Given the description of an element on the screen output the (x, y) to click on. 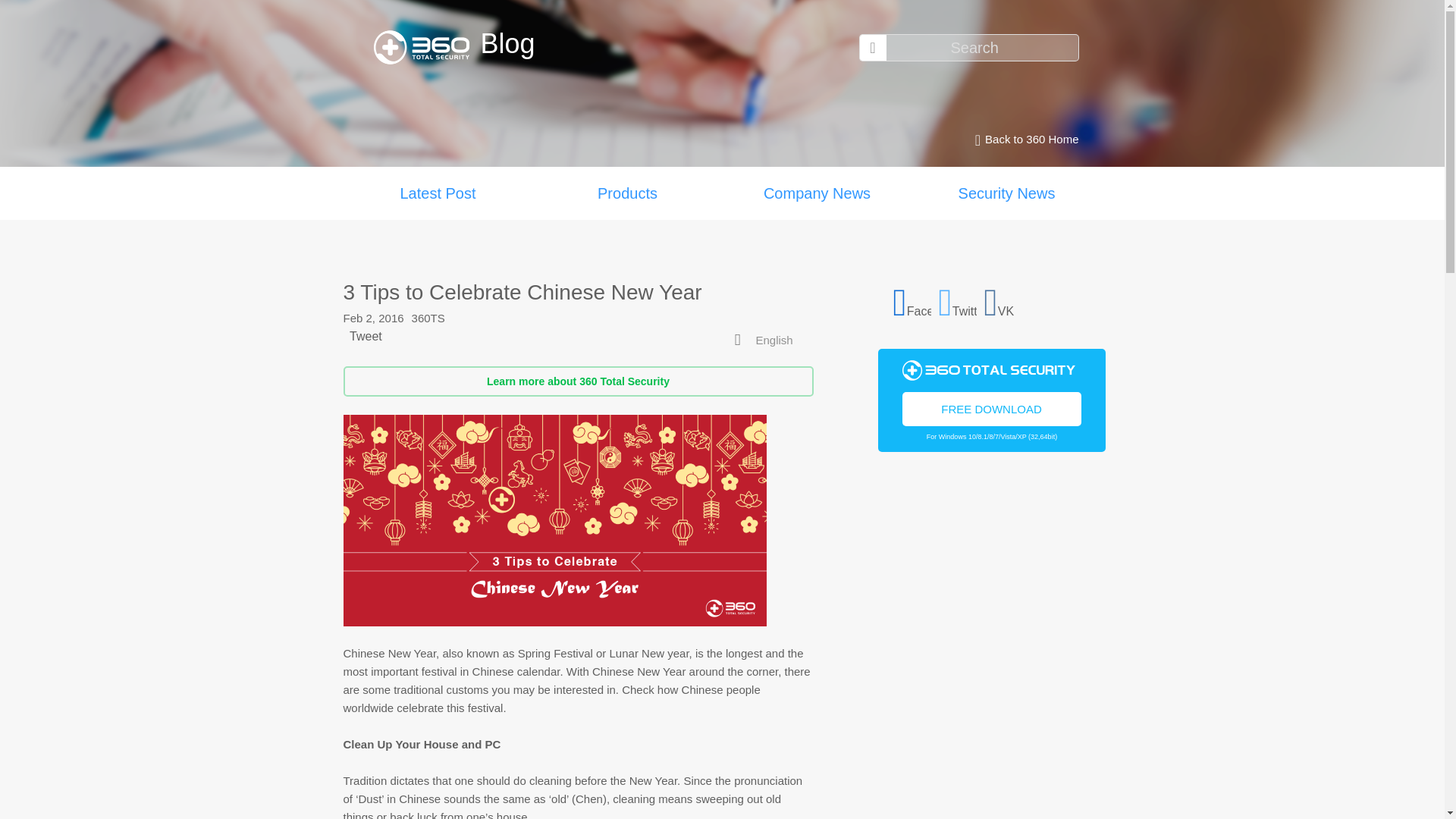
VK (1003, 299)
Back to 360 Home (1022, 140)
Learn more about 360 Total Security (577, 381)
Products (627, 193)
Security News (1005, 193)
Facebook (912, 299)
Learn more about 360 Total Security (577, 381)
Company News (816, 193)
Tweet (365, 336)
360 Total Security Blog Logo (426, 47)
Twitter (957, 299)
Advertisement (991, 650)
Free Download (991, 408)
Latest Post (437, 193)
FREE DOWNLOAD (991, 408)
